Given the description of an element on the screen output the (x, y) to click on. 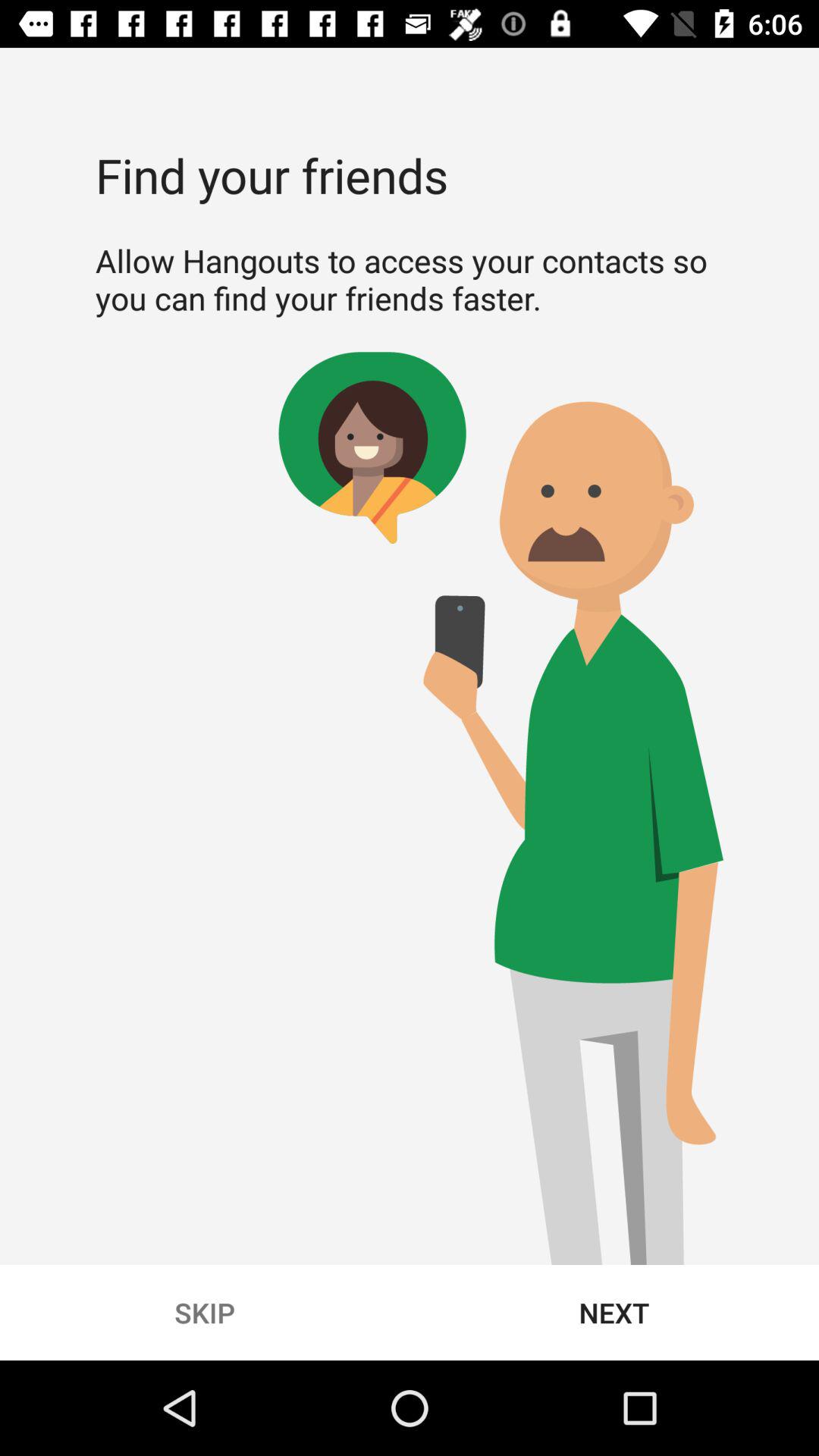
swipe until the next icon (614, 1312)
